Given the description of an element on the screen output the (x, y) to click on. 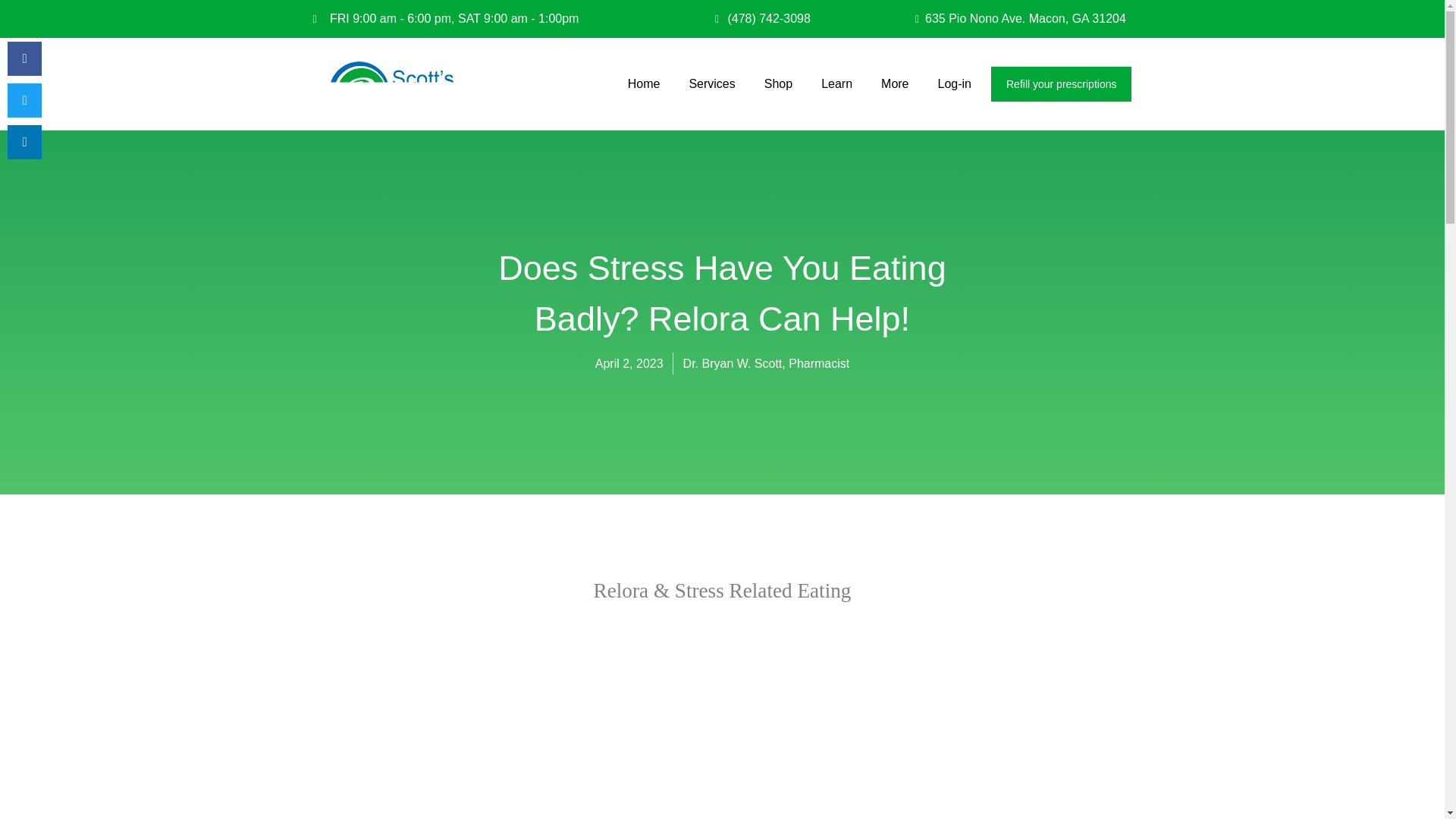
Learn (836, 83)
635 Pio Nono Ave. Macon, GA 31204 (1002, 18)
Services (711, 83)
Shop (778, 83)
Refill your prescriptions (1061, 83)
More (894, 83)
Log-in (953, 83)
Home (643, 83)
